Given the description of an element on the screen output the (x, y) to click on. 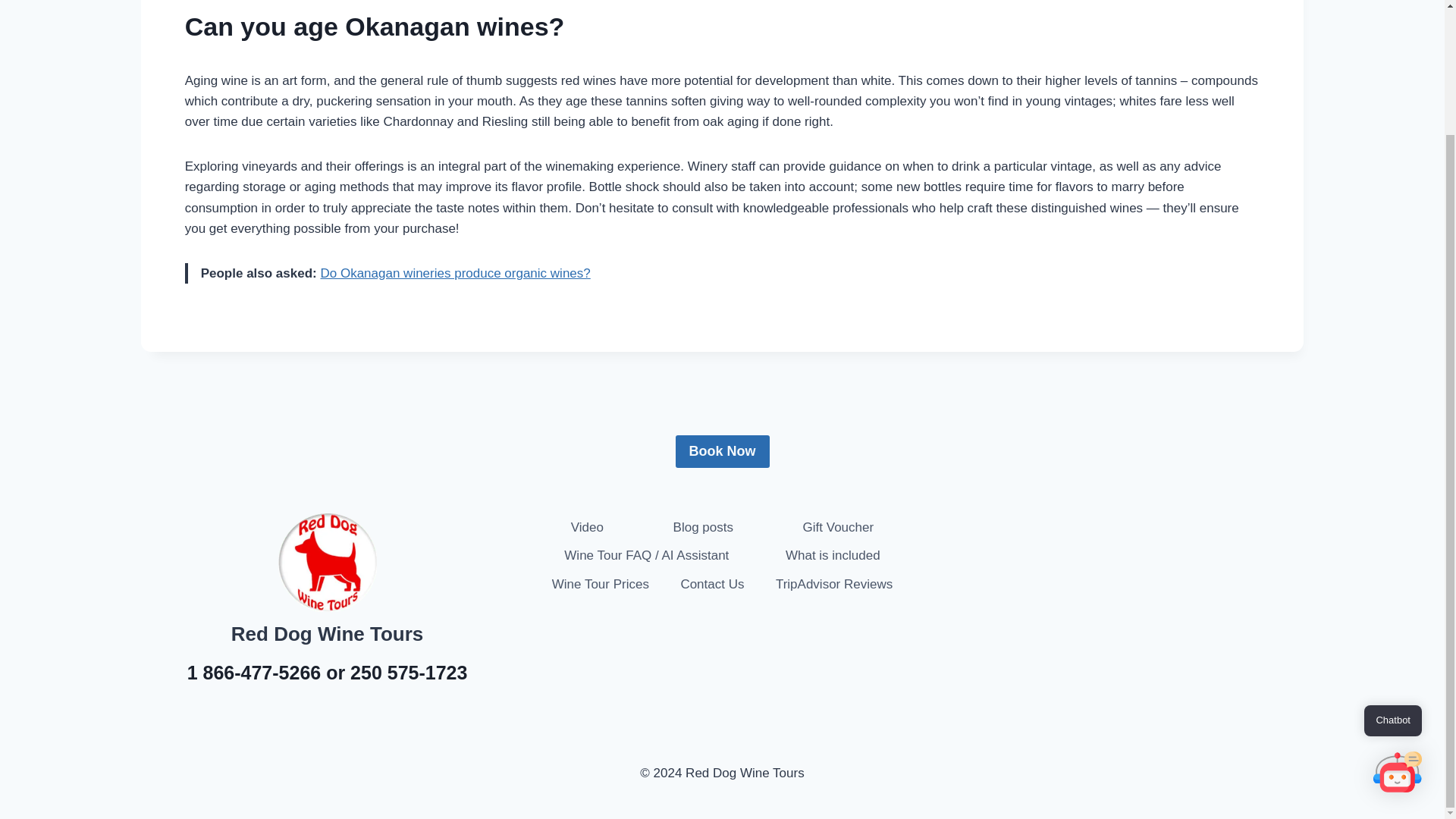
What is included (832, 555)
Gift Voucher (837, 527)
250 575-1723 (408, 672)
Do Okanagan wineries produce organic wines? (454, 273)
Video (587, 527)
Blog posts (703, 527)
Book Now (721, 450)
1 866-477-5266 (254, 672)
